Given the description of an element on the screen output the (x, y) to click on. 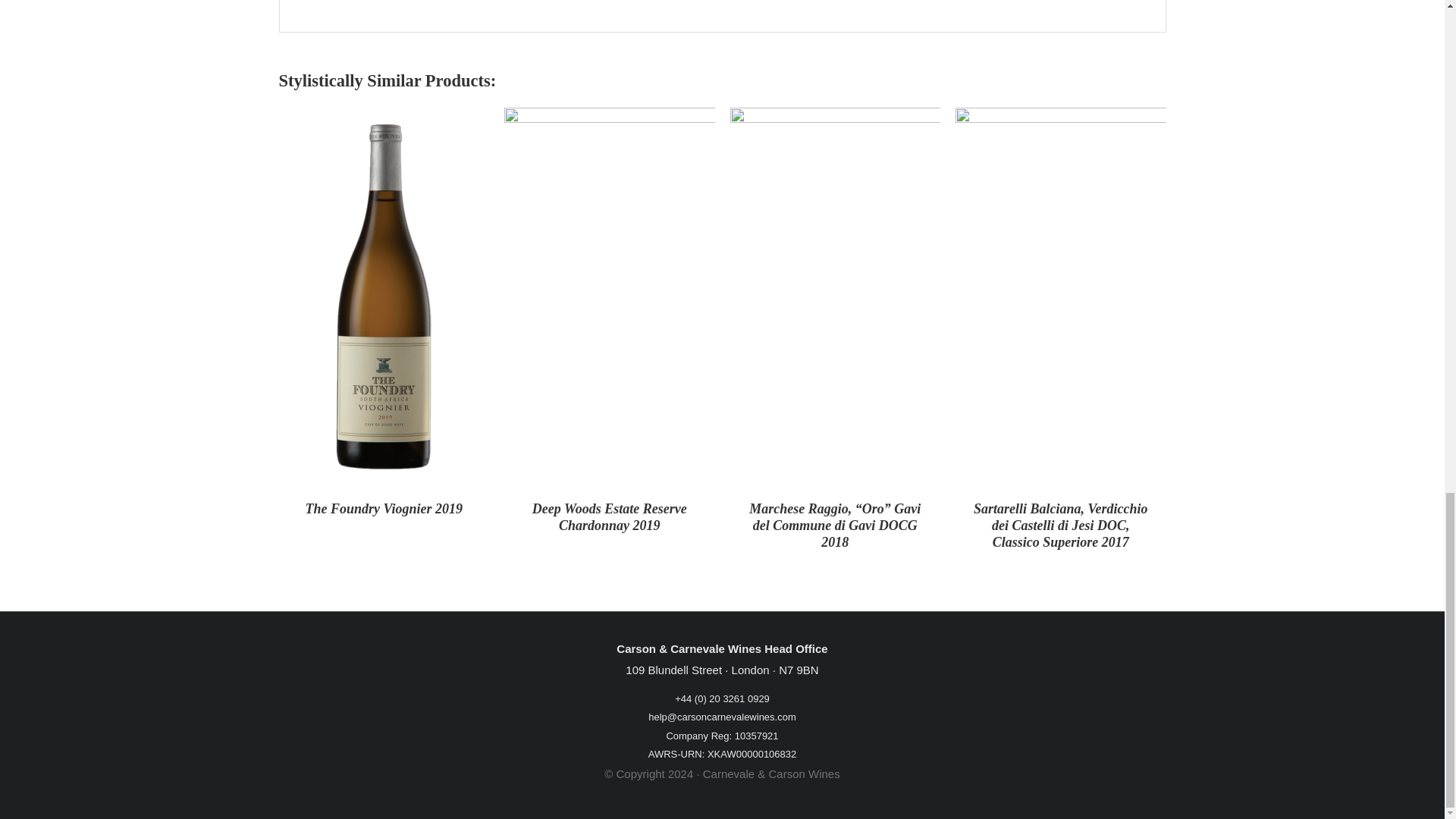
Deep Woods Estate Reserve Chardonnay 2019 (609, 517)
109 Blundell Street (674, 670)
The Foundry Viognier 2019 (383, 508)
London (751, 670)
